Given the description of an element on the screen output the (x, y) to click on. 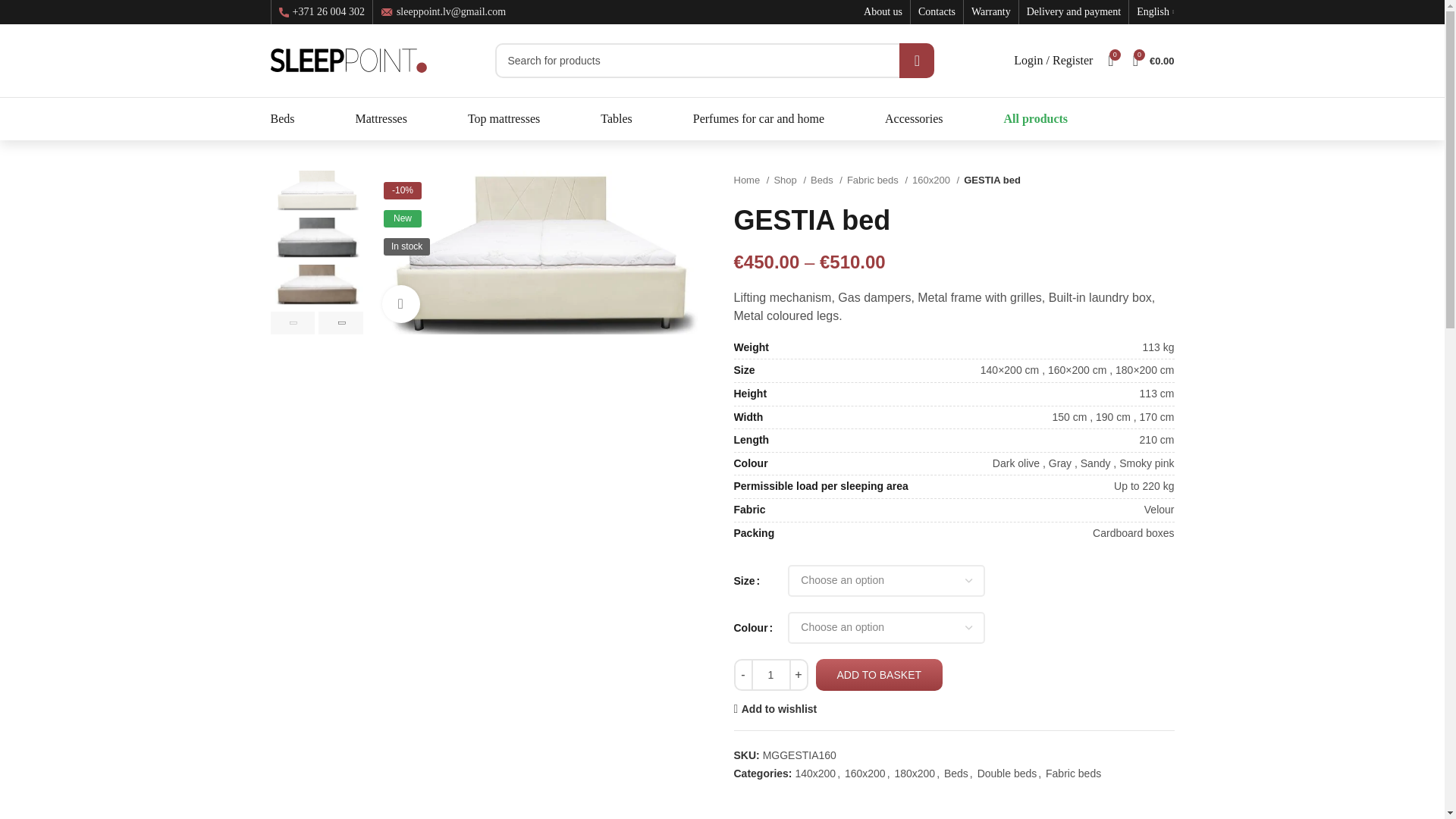
SEARCH (916, 60)
Home (751, 180)
Top mattresses (504, 119)
Perfumes for car and home (758, 119)
Search for products (714, 60)
All products (1034, 119)
Mattresses (380, 119)
Shopping cart (1153, 60)
Delivery and payment (1073, 13)
Fabric beds (877, 180)
